Given the description of an element on the screen output the (x, y) to click on. 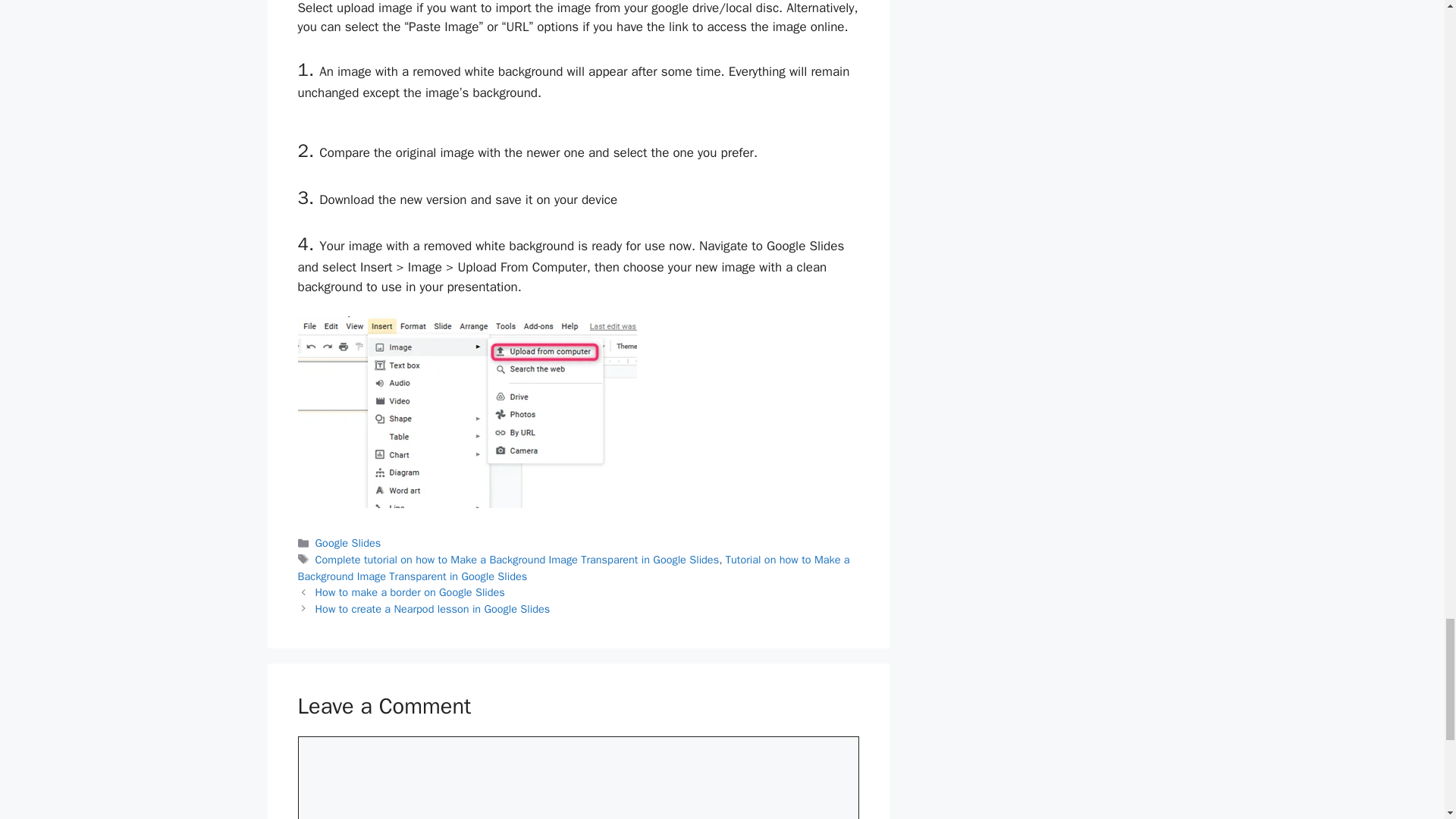
How to make a border on Google Slides (410, 591)
How to create a Nearpod lesson in Google Slides (432, 608)
Google Slides (348, 542)
